Given the description of an element on the screen output the (x, y) to click on. 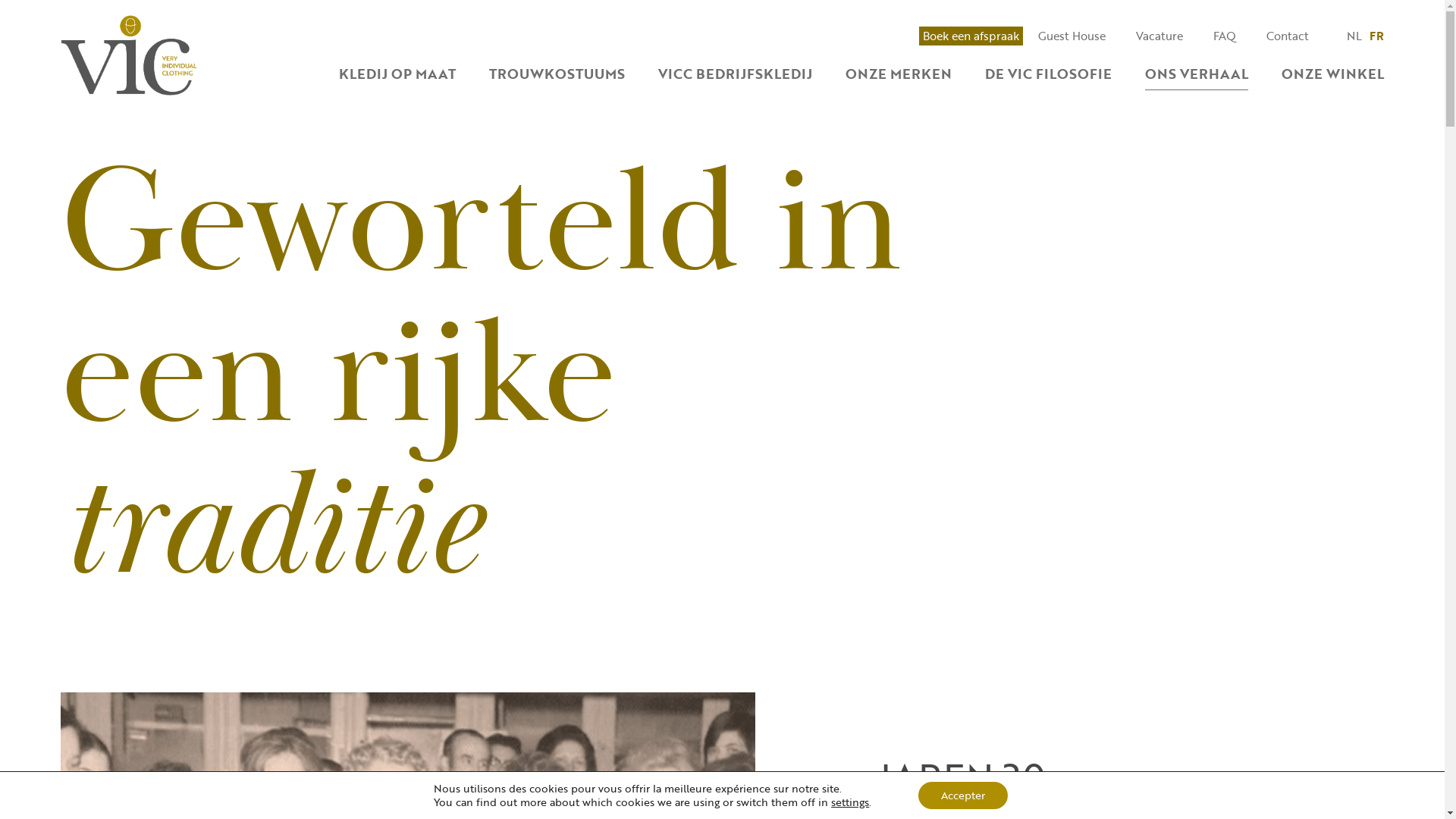
Accepter Element type: text (962, 795)
FR Element type: text (1376, 35)
TROUWKOSTUUMS Element type: text (556, 73)
KLEDIJ OP MAAT Element type: text (396, 73)
settings Element type: text (850, 802)
Guest House Element type: text (1071, 35)
DE VIC FILOSOFIE Element type: text (1048, 73)
ONZE MERKEN Element type: text (898, 73)
FAQ Element type: text (1224, 35)
ONZE WINKEL Element type: text (1332, 73)
Vacature Element type: text (1159, 35)
NL Element type: text (1353, 35)
Boek een afspraak Element type: text (970, 35)
Contact Element type: text (1287, 35)
VICC BEDRIJFSKLEDIJ Element type: text (735, 73)
ONS VERHAAL Element type: text (1196, 73)
